Given the description of an element on the screen output the (x, y) to click on. 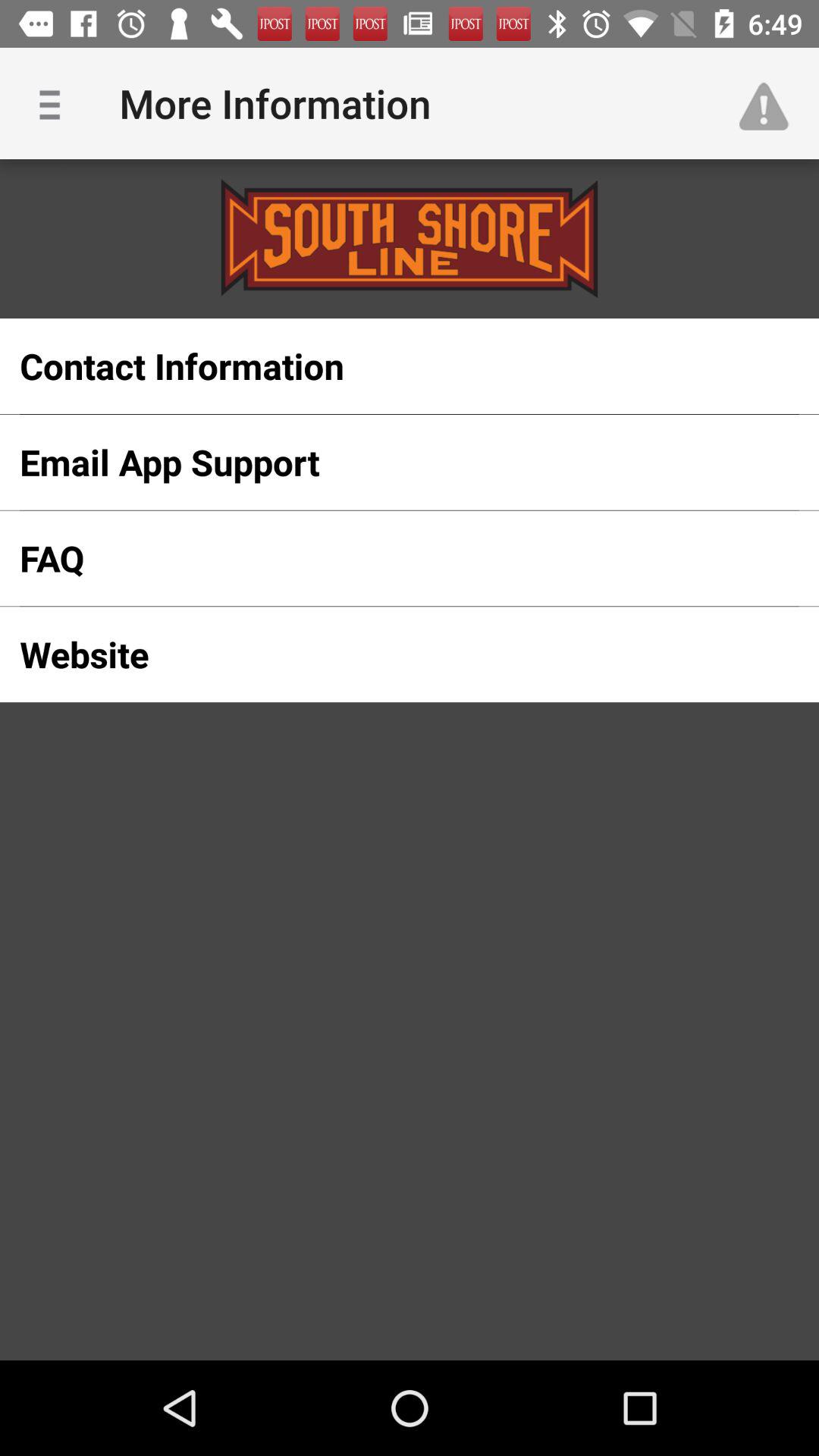
open the icon below email app support item (385, 558)
